Given the description of an element on the screen output the (x, y) to click on. 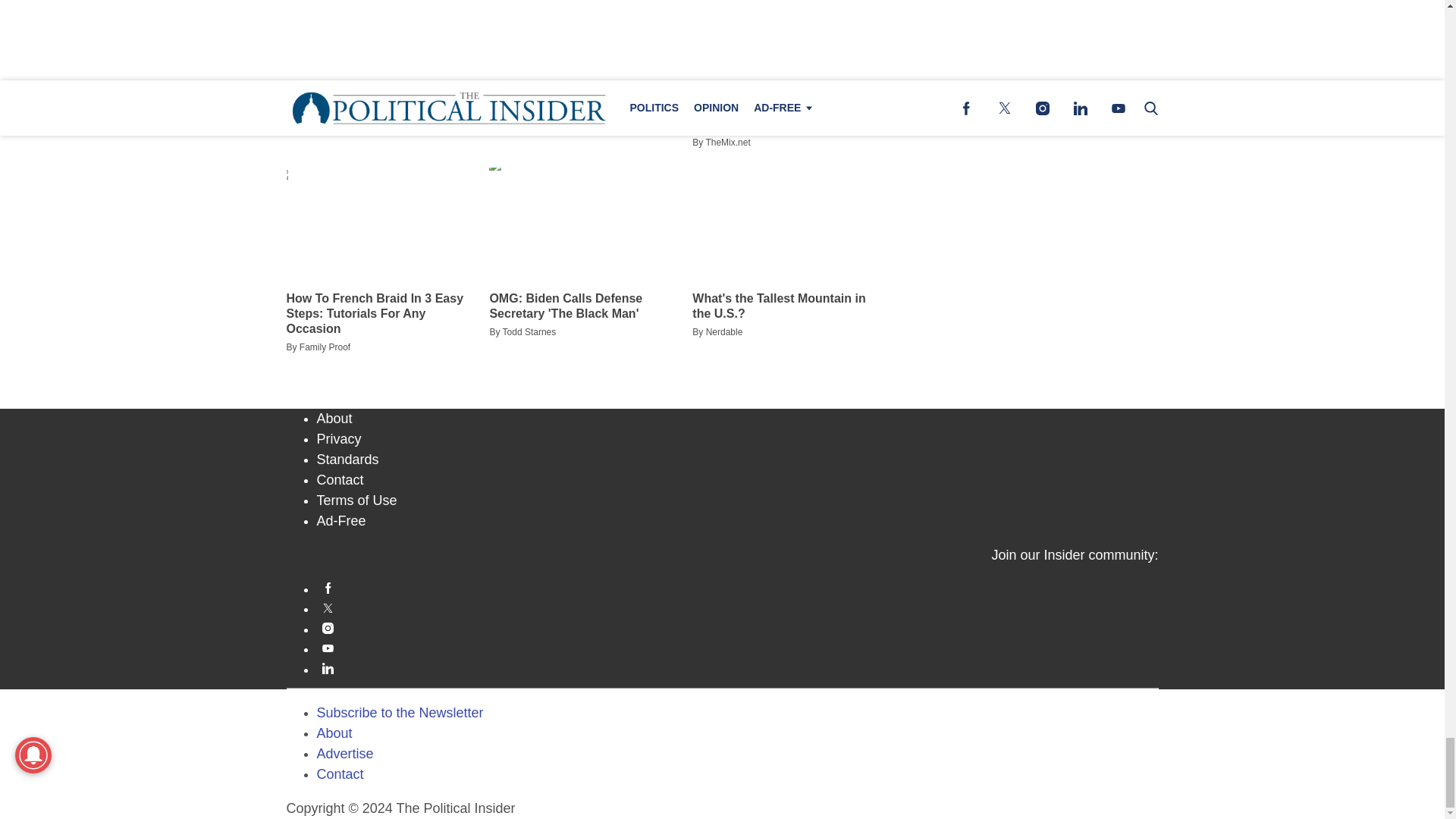
Follow us on Facebook (737, 587)
Follow us on Twitter (737, 607)
Follow us on Instagram (737, 627)
Connect with us on LinkedIn (737, 668)
Subscribe to our YouTube channel (737, 647)
